Given the description of an element on the screen output the (x, y) to click on. 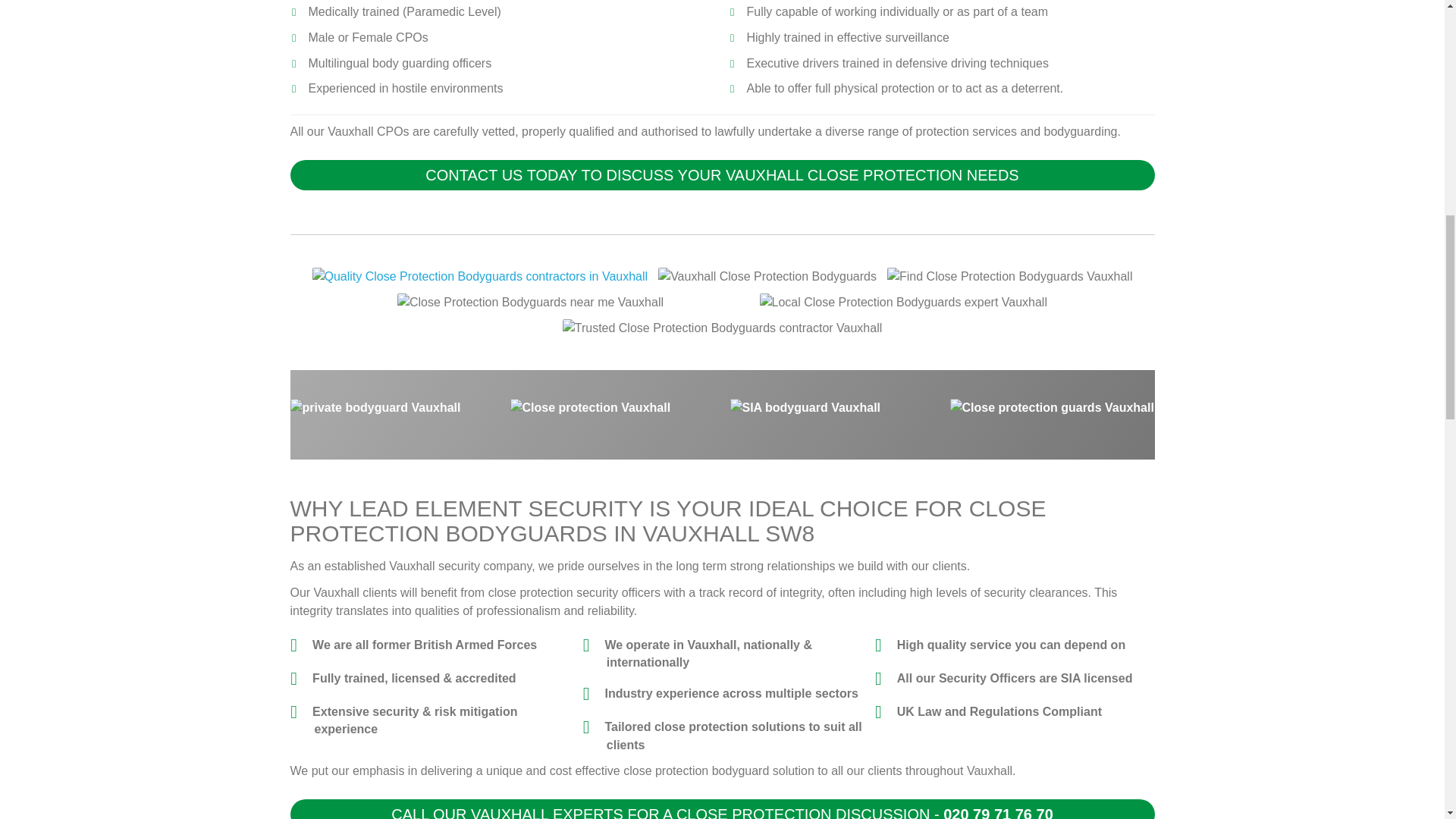
CHAS Elite Accreditation (767, 276)
GDPR (903, 302)
Leyton Orient Business Partner (722, 328)
Vauxhall security company (459, 565)
ICO Registered Business (530, 302)
Supporting those who served (1009, 276)
SIA Approved (480, 276)
